Given the description of an element on the screen output the (x, y) to click on. 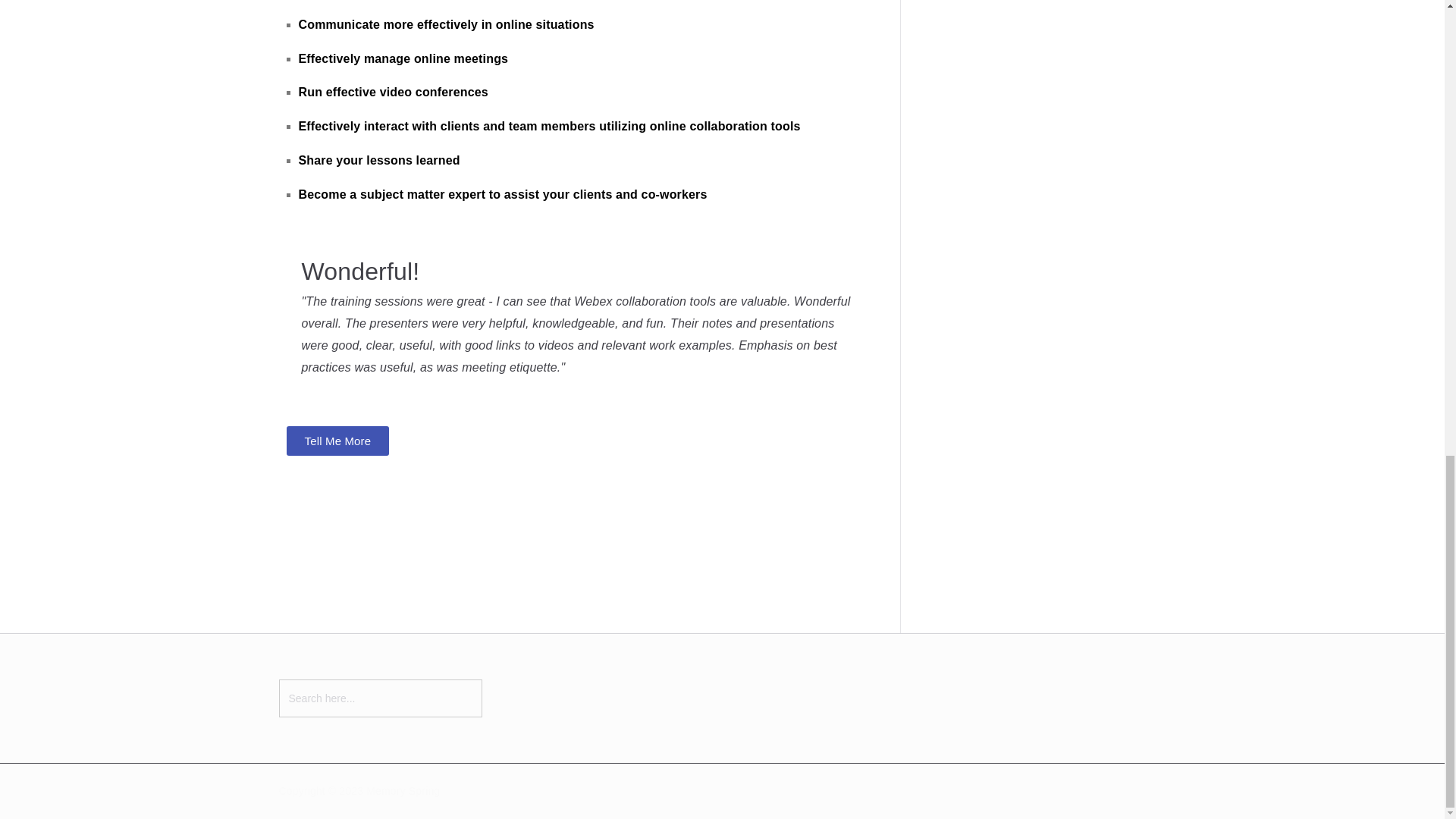
Memory Spring (402, 790)
Tell Me More (338, 440)
Memory Spring (402, 790)
